Given the description of an element on the screen output the (x, y) to click on. 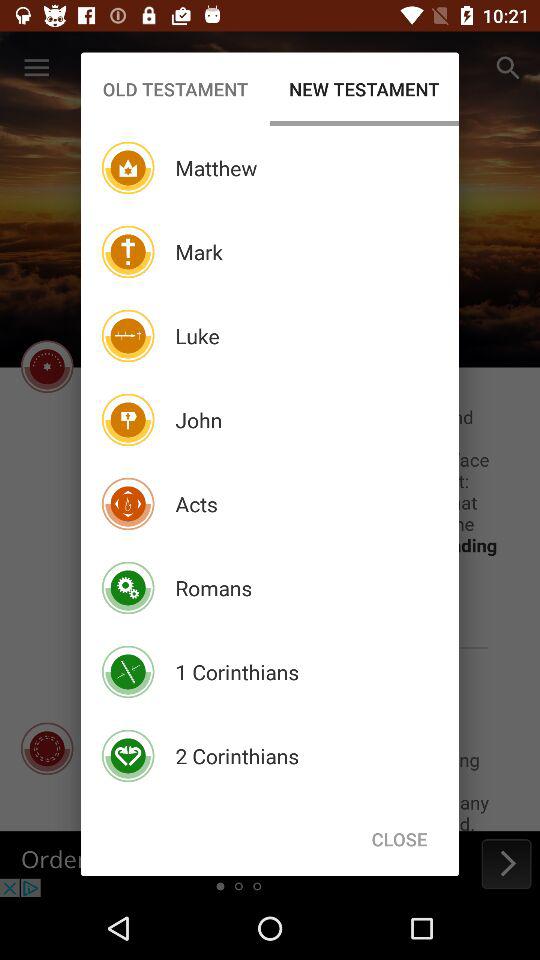
select matthew icon (216, 167)
